Given the description of an element on the screen output the (x, y) to click on. 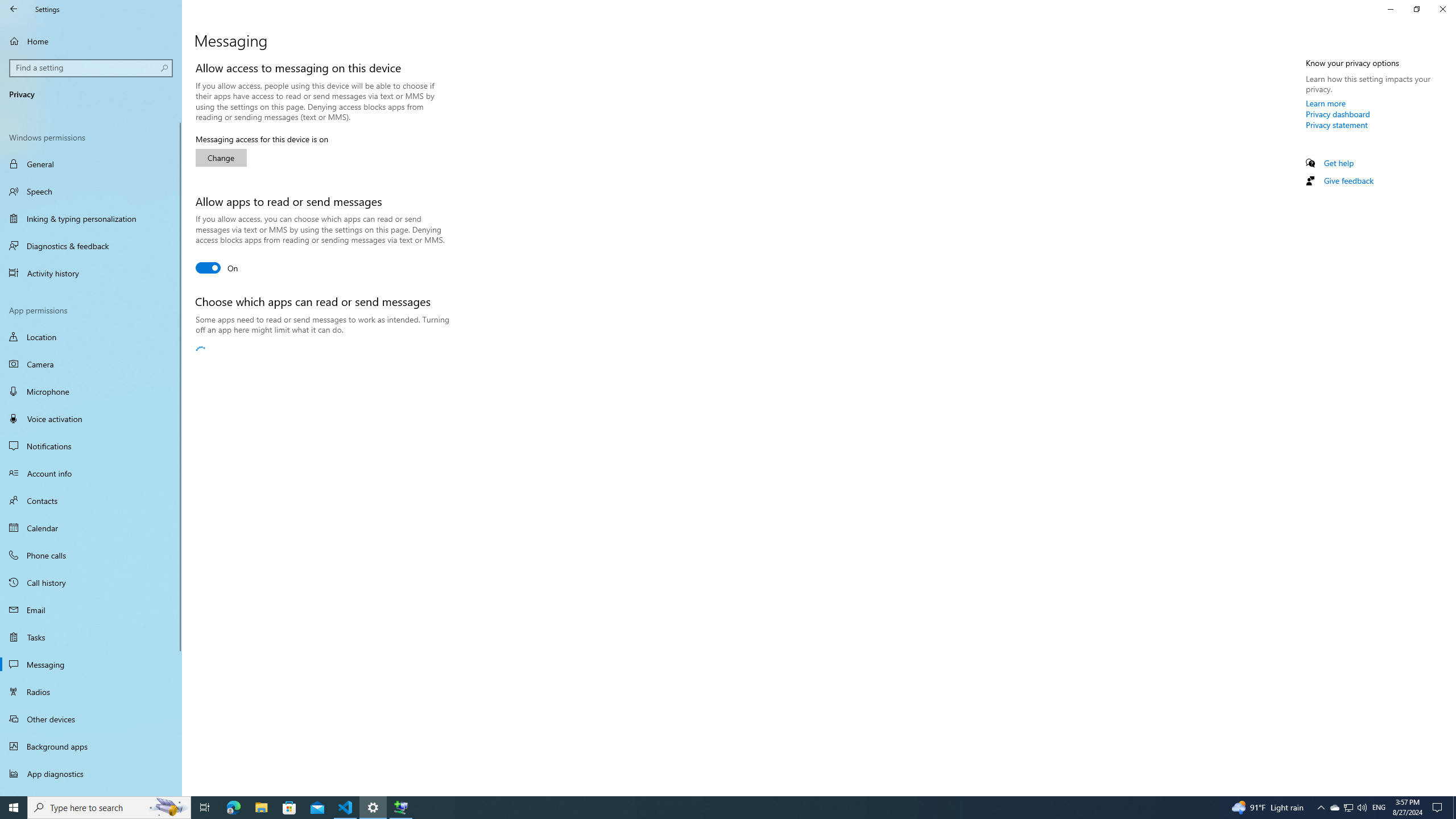
Location (91, 336)
Extensible Wizards Host Process - 1 running window (400, 807)
Activity history (91, 272)
Contacts (91, 500)
Camera (91, 363)
Messaging (91, 664)
Call history (91, 582)
